Given the description of an element on the screen output the (x, y) to click on. 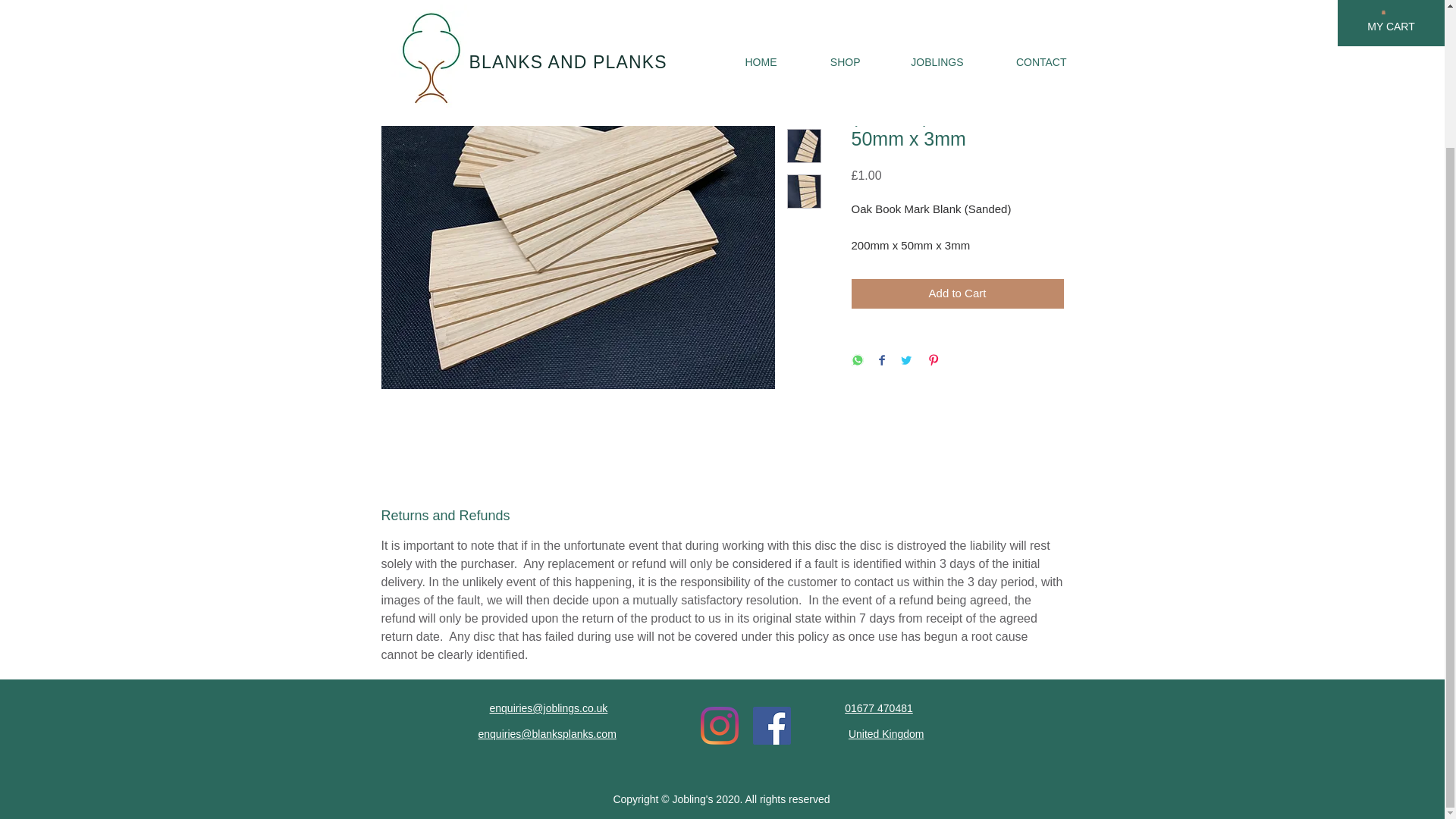
Add to Cart (956, 293)
01677 470481 (878, 707)
United Kingdom (886, 734)
